Given the description of an element on the screen output the (x, y) to click on. 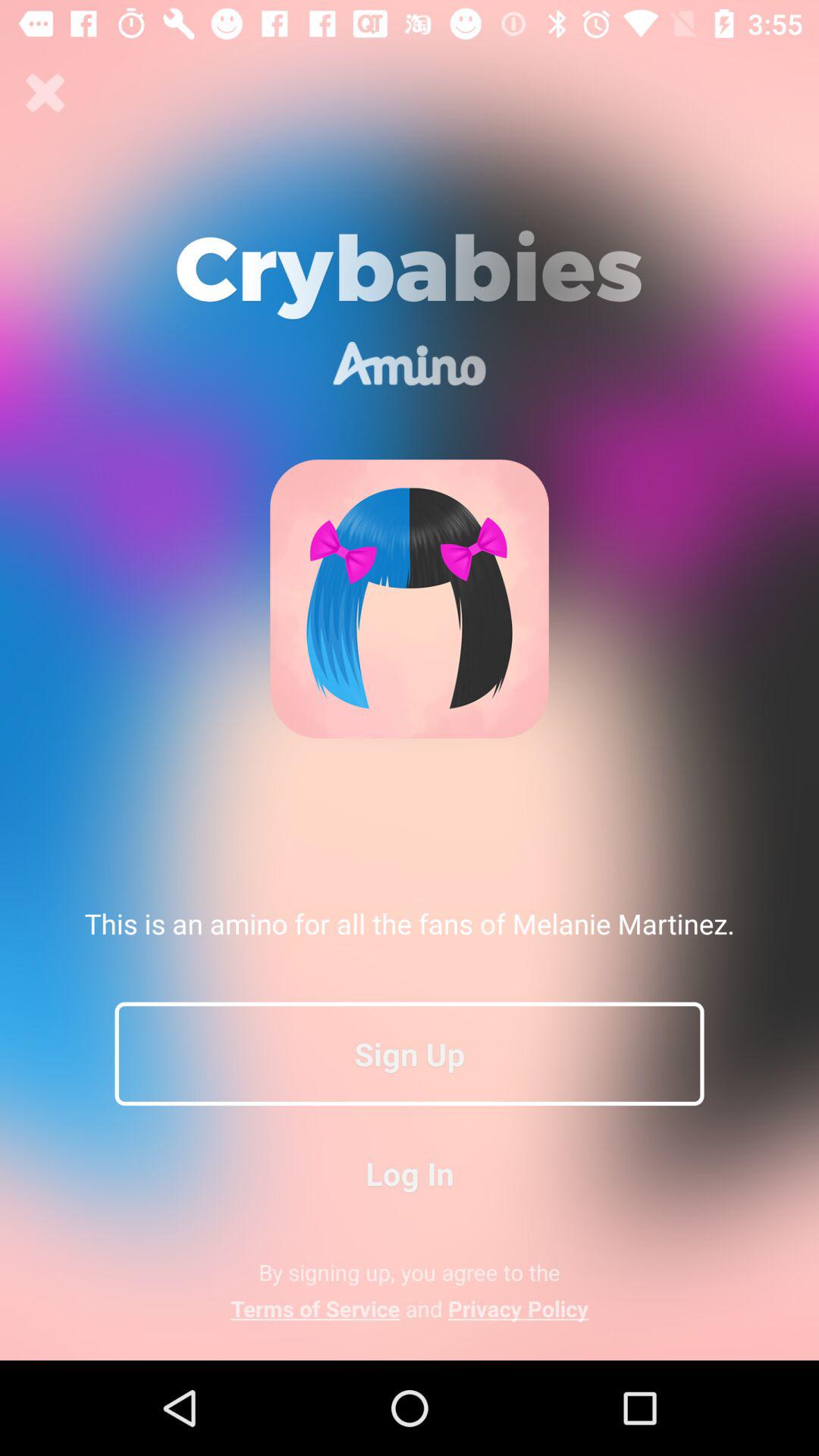
open the item above this is an app (45, 93)
